Given the description of an element on the screen output the (x, y) to click on. 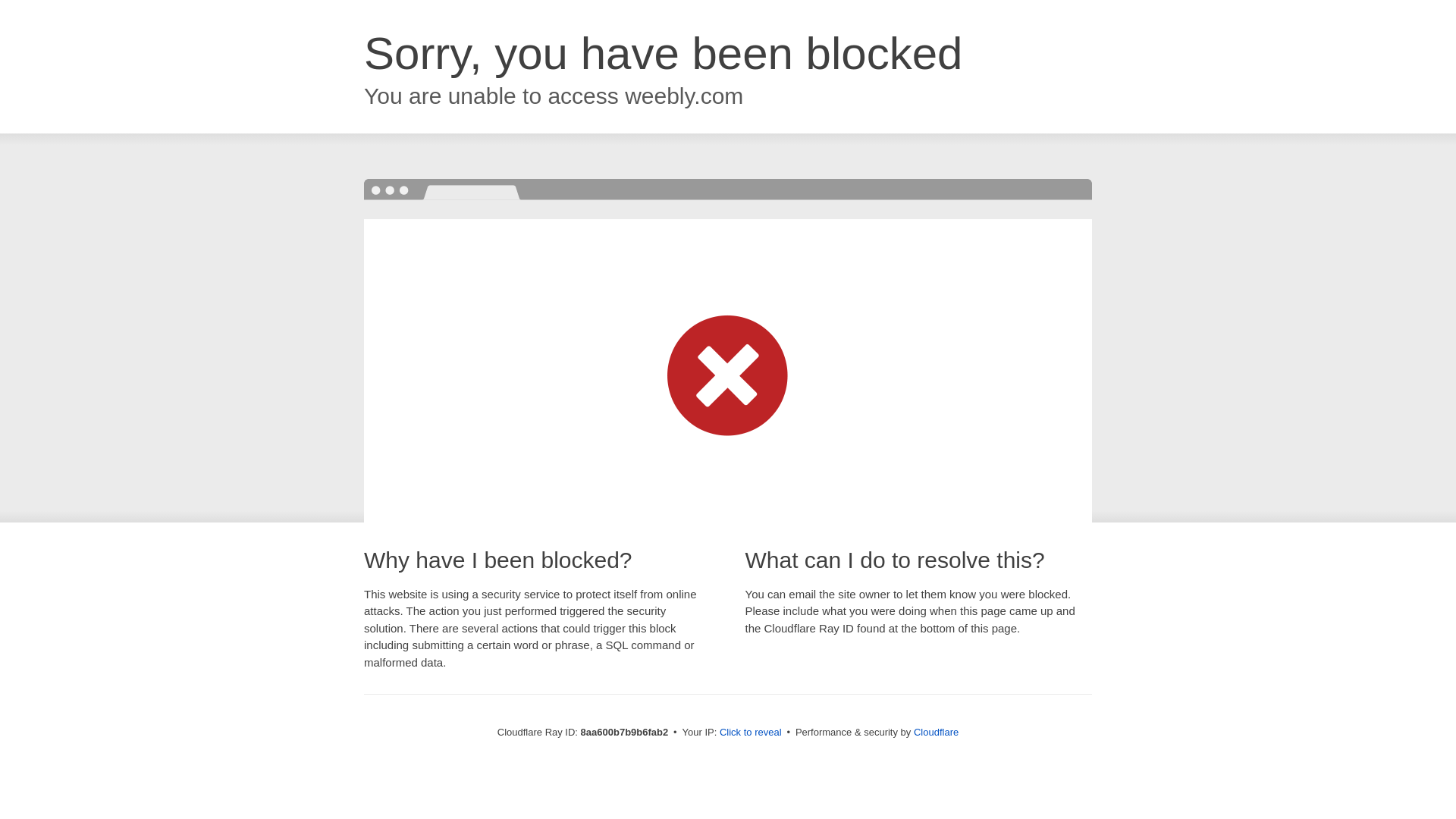
Cloudflare (936, 731)
Click to reveal (750, 732)
